Given the description of an element on the screen output the (x, y) to click on. 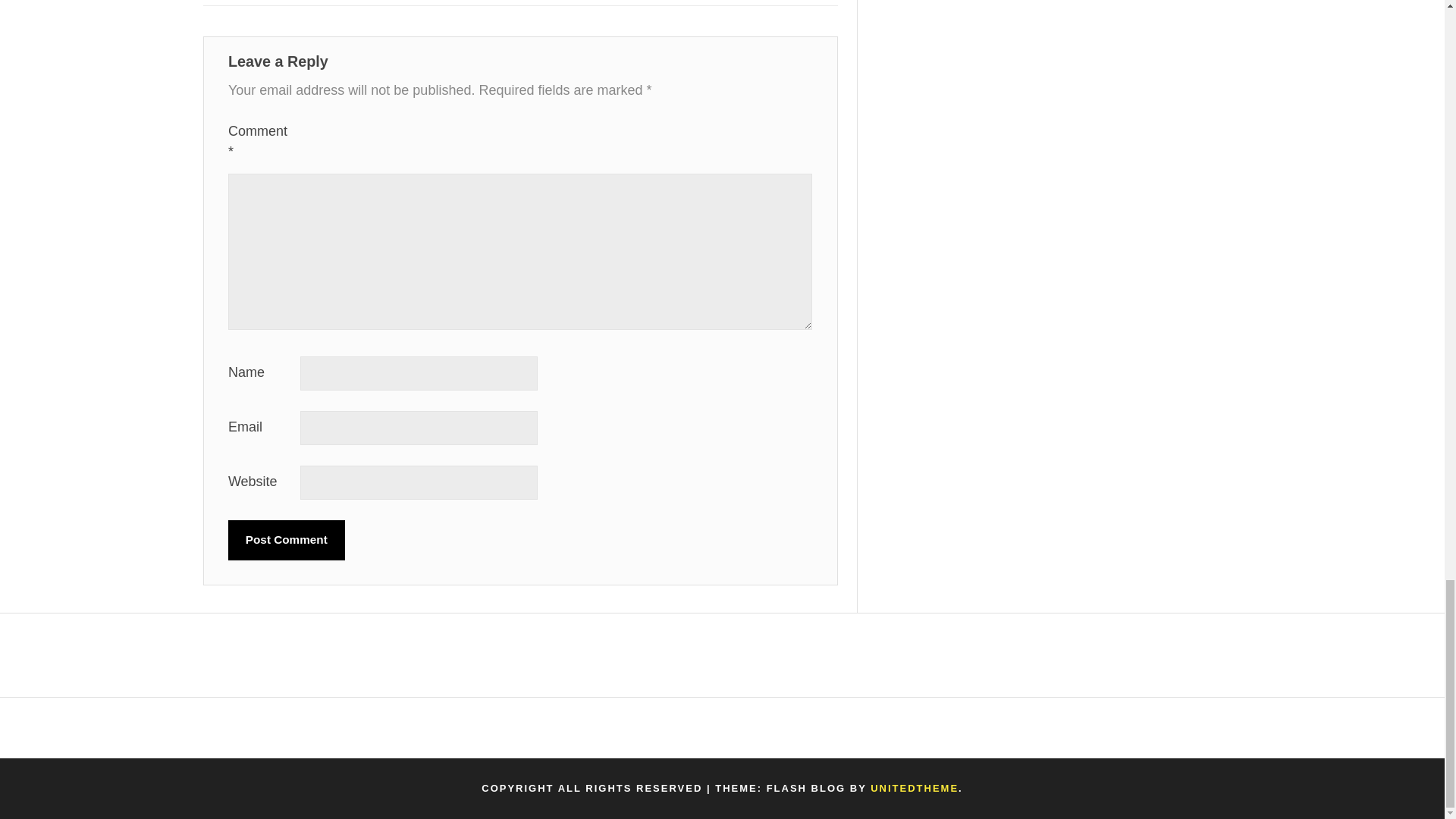
Post Comment (286, 540)
Post Comment (286, 540)
